Given the description of an element on the screen output the (x, y) to click on. 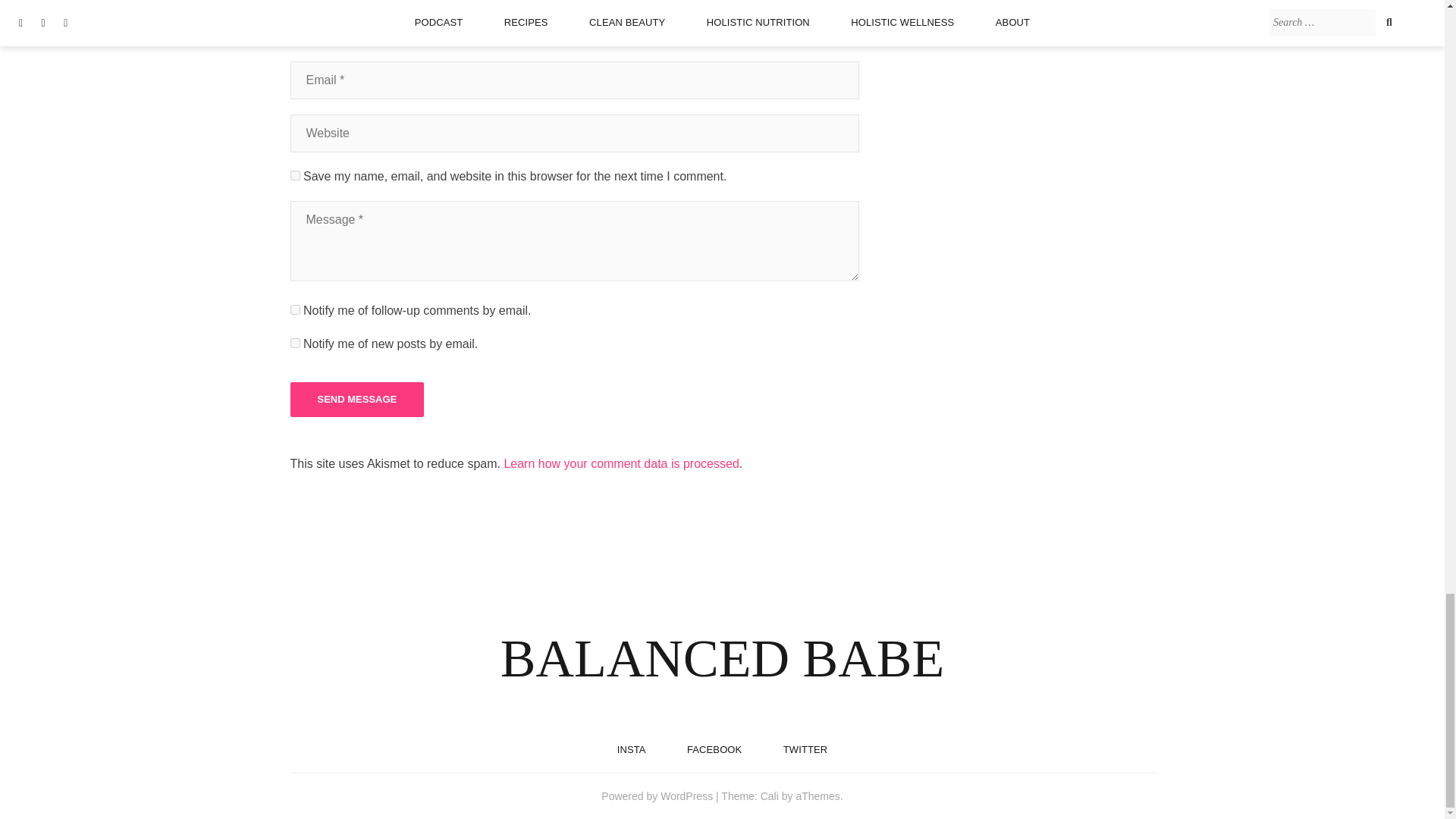
Send Message (356, 399)
subscribe (294, 343)
subscribe (294, 309)
yes (294, 175)
